Given the description of an element on the screen output the (x, y) to click on. 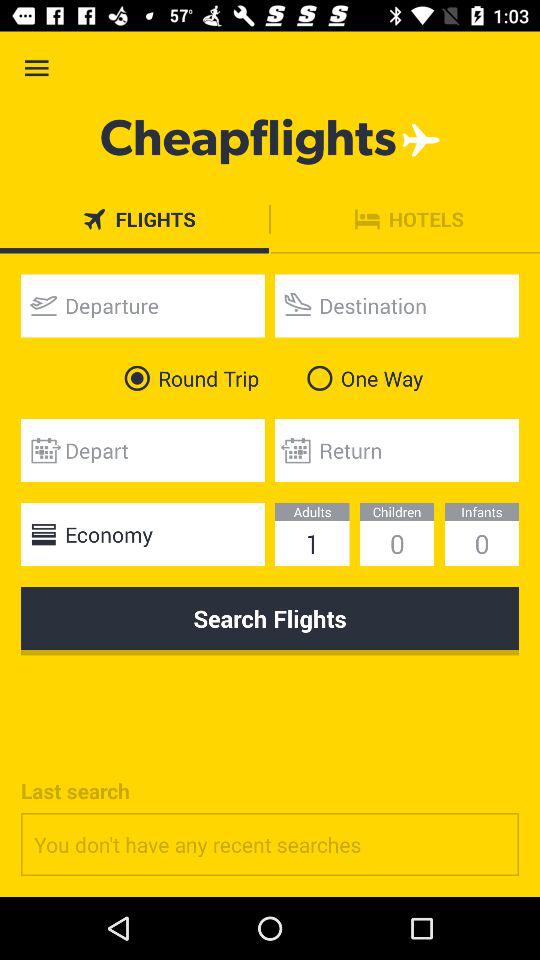
open the economy item (142, 534)
